Given the description of an element on the screen output the (x, y) to click on. 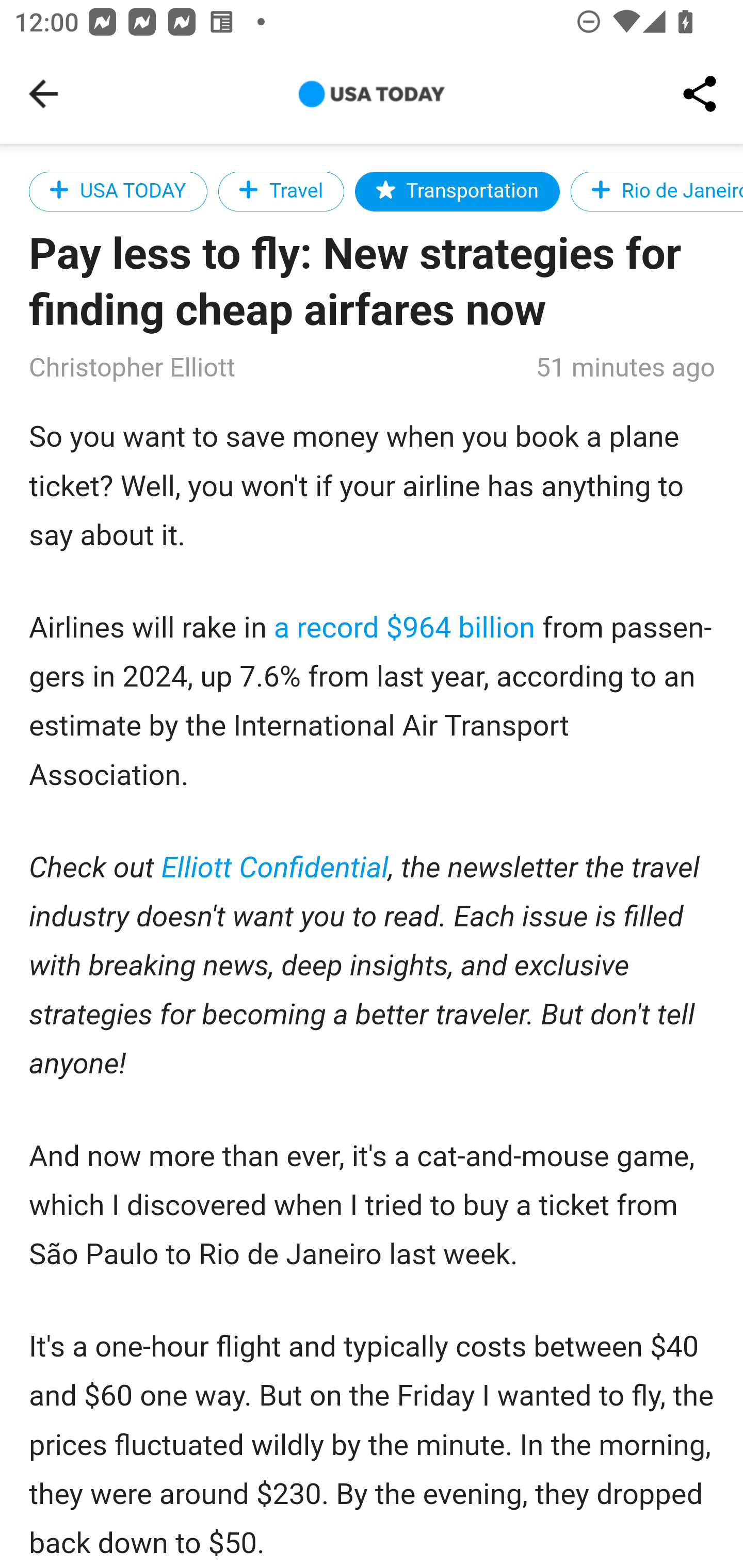
USA TODAY (117, 191)
Travel (280, 191)
Transportation (456, 191)
Rio de Janeiro (655, 191)
a record $964 billion (404, 627)
Elliott Confidential (275, 868)
